Given the description of an element on the screen output the (x, y) to click on. 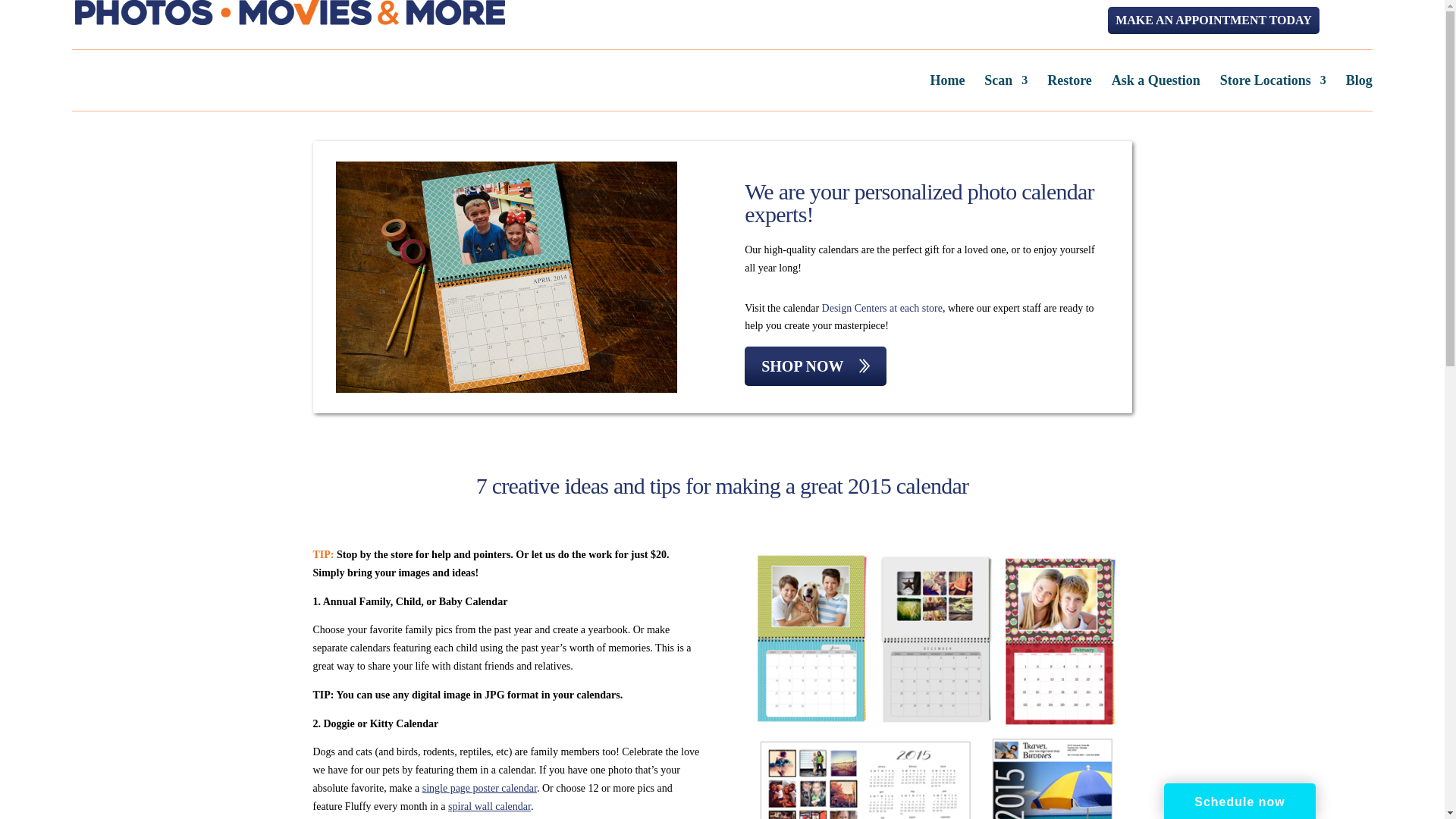
spiral wall calendar (489, 806)
Scan (1005, 92)
single page poster calendar (479, 787)
Home (946, 92)
Restore (1069, 92)
0 Items (1351, 20)
Store Locations (1273, 92)
MAKE AN APPOINTMENT TODAY (1213, 20)
SHOP NOW (814, 365)
Ask a Question (1155, 92)
Design Centers at each store (882, 307)
